Given the description of an element on the screen output the (x, y) to click on. 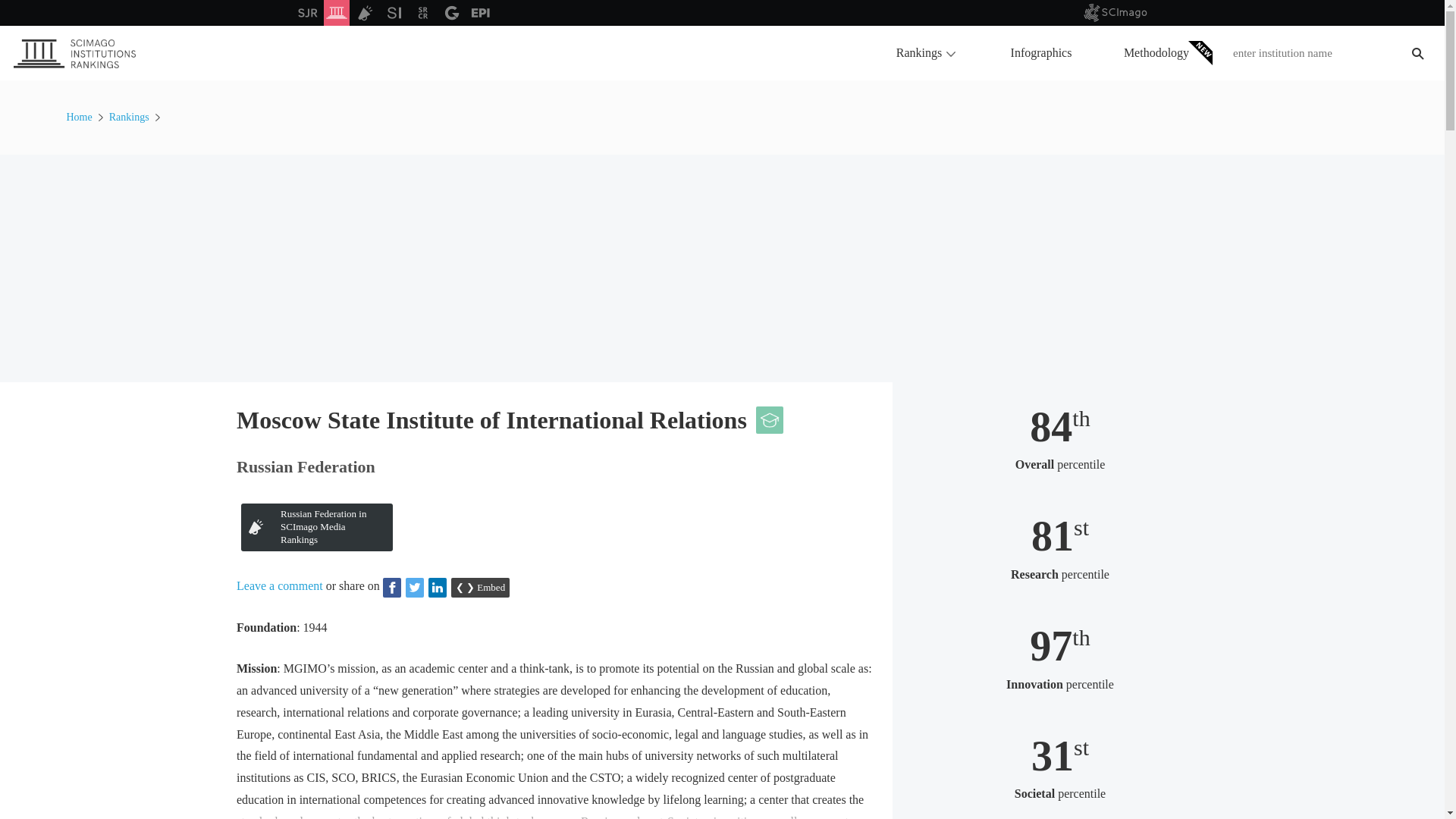
visit SCImago Media Rankings - Russian Federation (317, 527)
Infographics (1041, 52)
Rankings (925, 52)
Home (79, 116)
show more (554, 811)
home page (74, 77)
University (769, 420)
Russian Federation in SCImago Media Rankings (317, 527)
Methodology (1156, 52)
Leave a comment (279, 585)
